Given the description of an element on the screen output the (x, y) to click on. 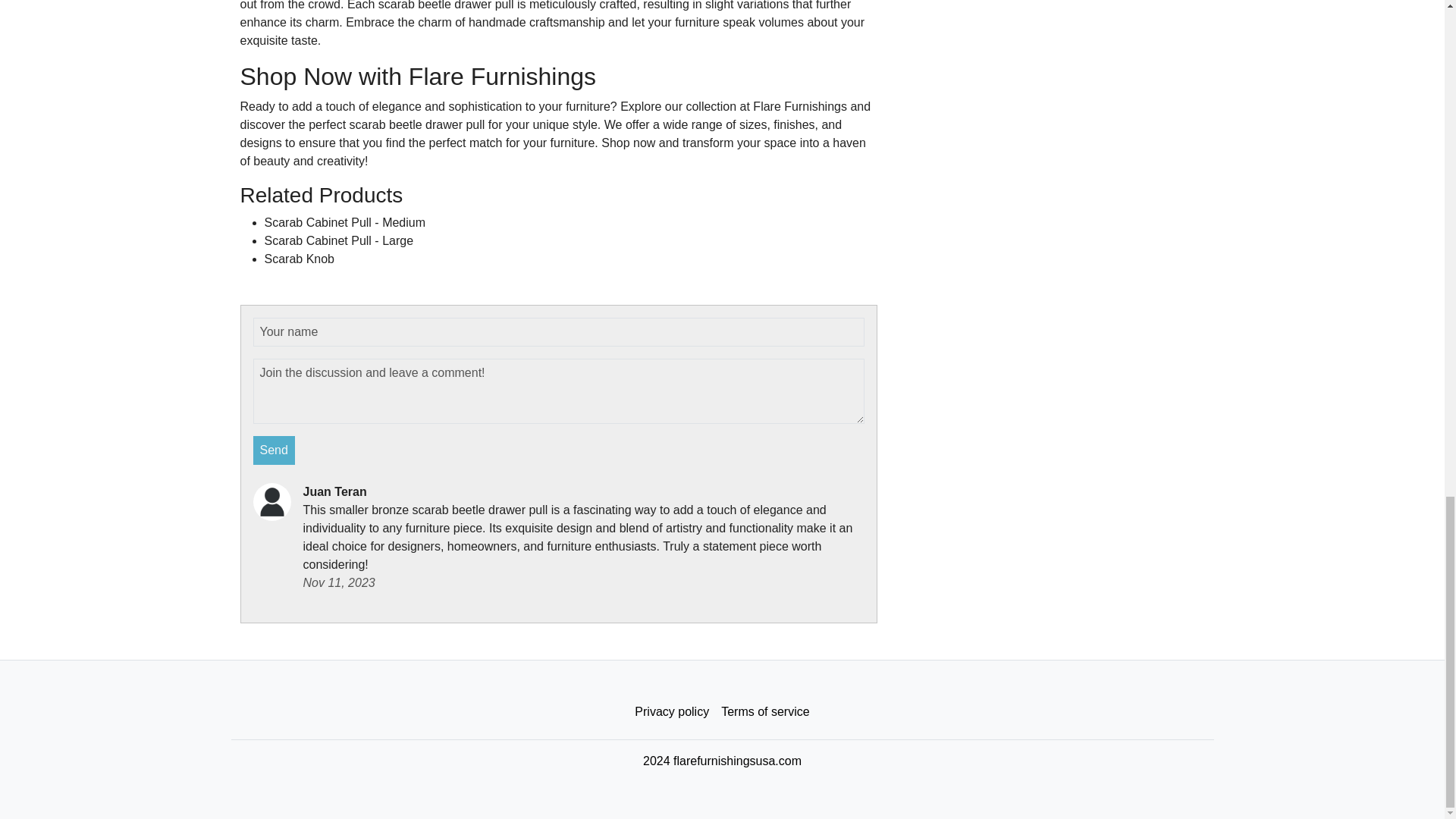
Terms of service (764, 711)
Send (274, 450)
Send (274, 450)
Privacy policy (671, 711)
